Given the description of an element on the screen output the (x, y) to click on. 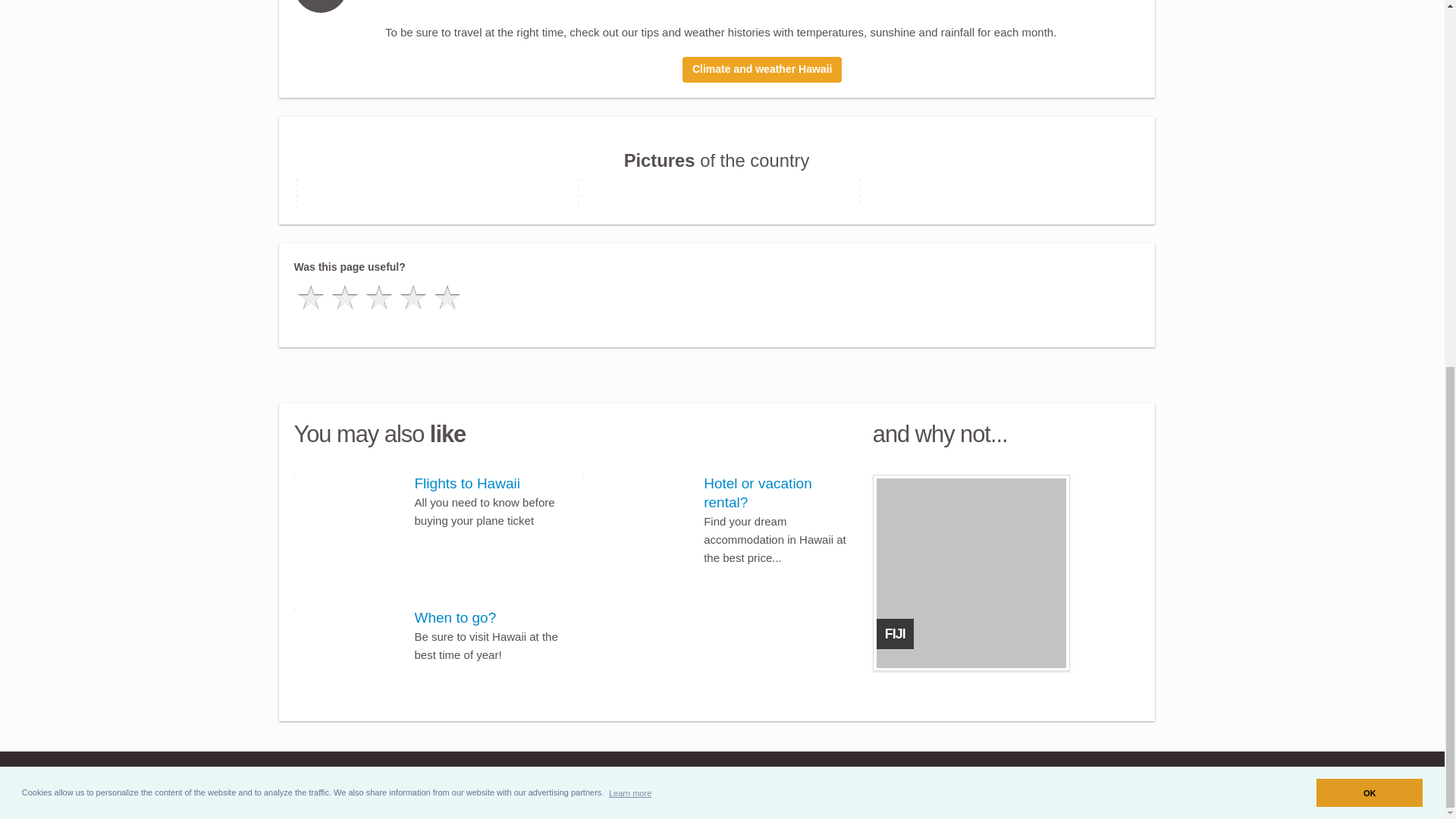
OK (1369, 131)
Learn more (630, 131)
